Given the description of an element on the screen output the (x, y) to click on. 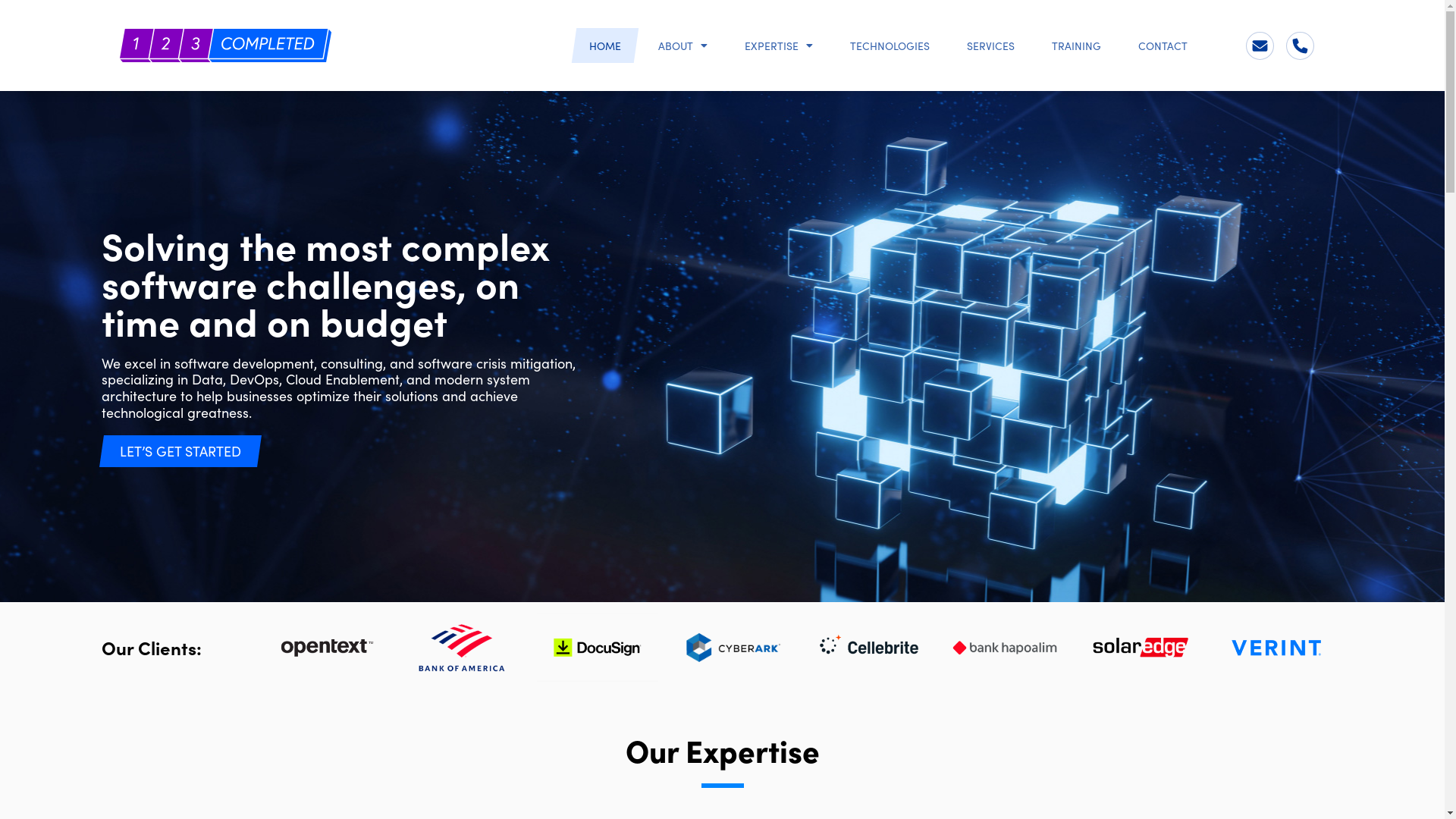
ABOUT Element type: text (682, 45)
EXPERTISE Element type: text (778, 45)
TECHNOLOGIES Element type: text (889, 45)
HOME Element type: text (605, 45)
Our Clients: Element type: text (151, 646)
TRAINING Element type: text (1076, 45)
SERVICES Element type: text (990, 45)
CONTACT Element type: text (1162, 45)
